Given the description of an element on the screen output the (x, y) to click on. 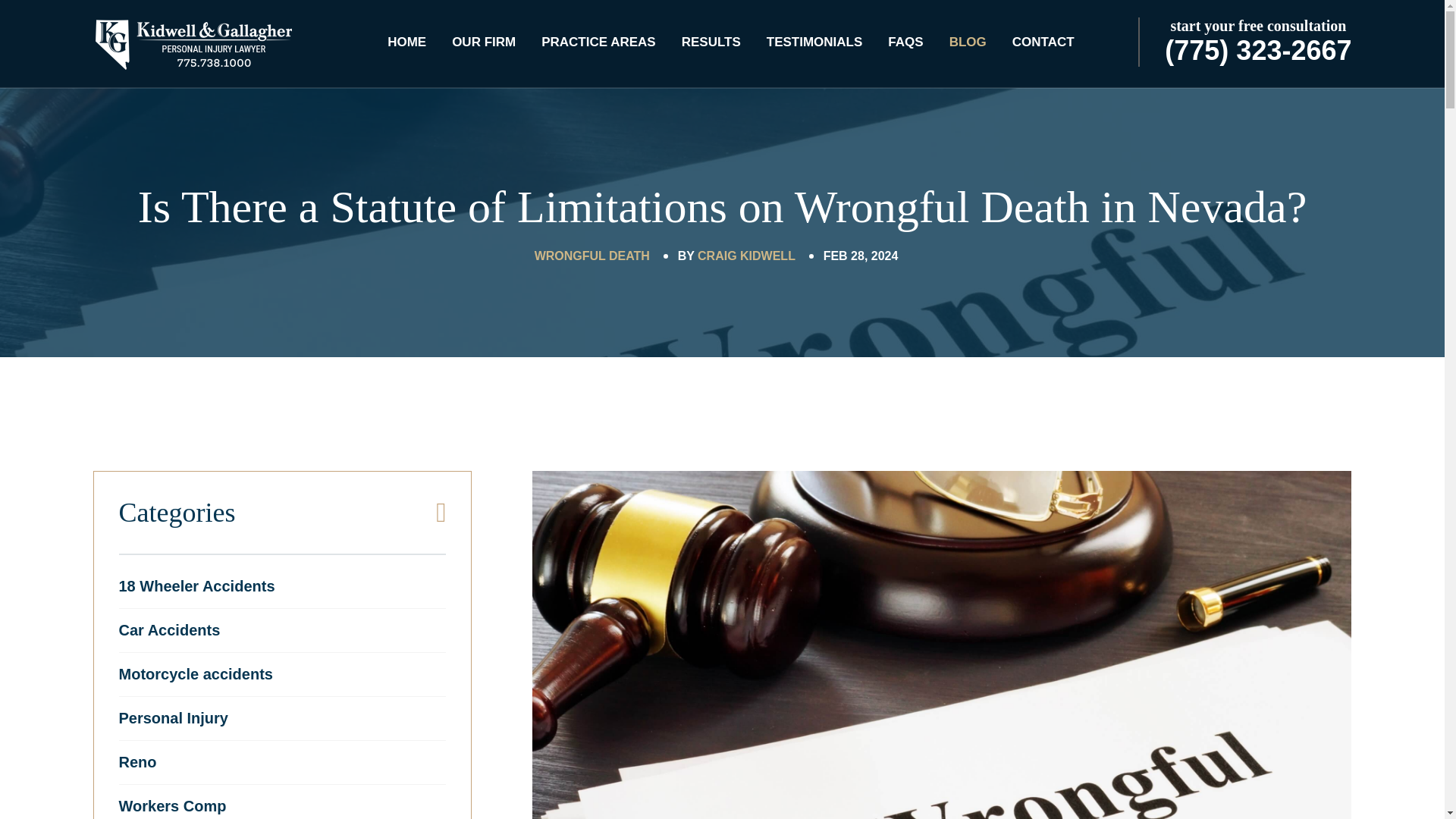
Categories (282, 499)
BY CRAIG KIDWELL (736, 255)
PRACTICE AREAS (598, 41)
FEB 28, 2024 (861, 255)
HOME (406, 41)
Personal Injury (172, 718)
Reno (136, 761)
RESULTS (711, 41)
18 Wheeler Accidents (196, 586)
TESTIMONIALS (815, 41)
